Given the description of an element on the screen output the (x, y) to click on. 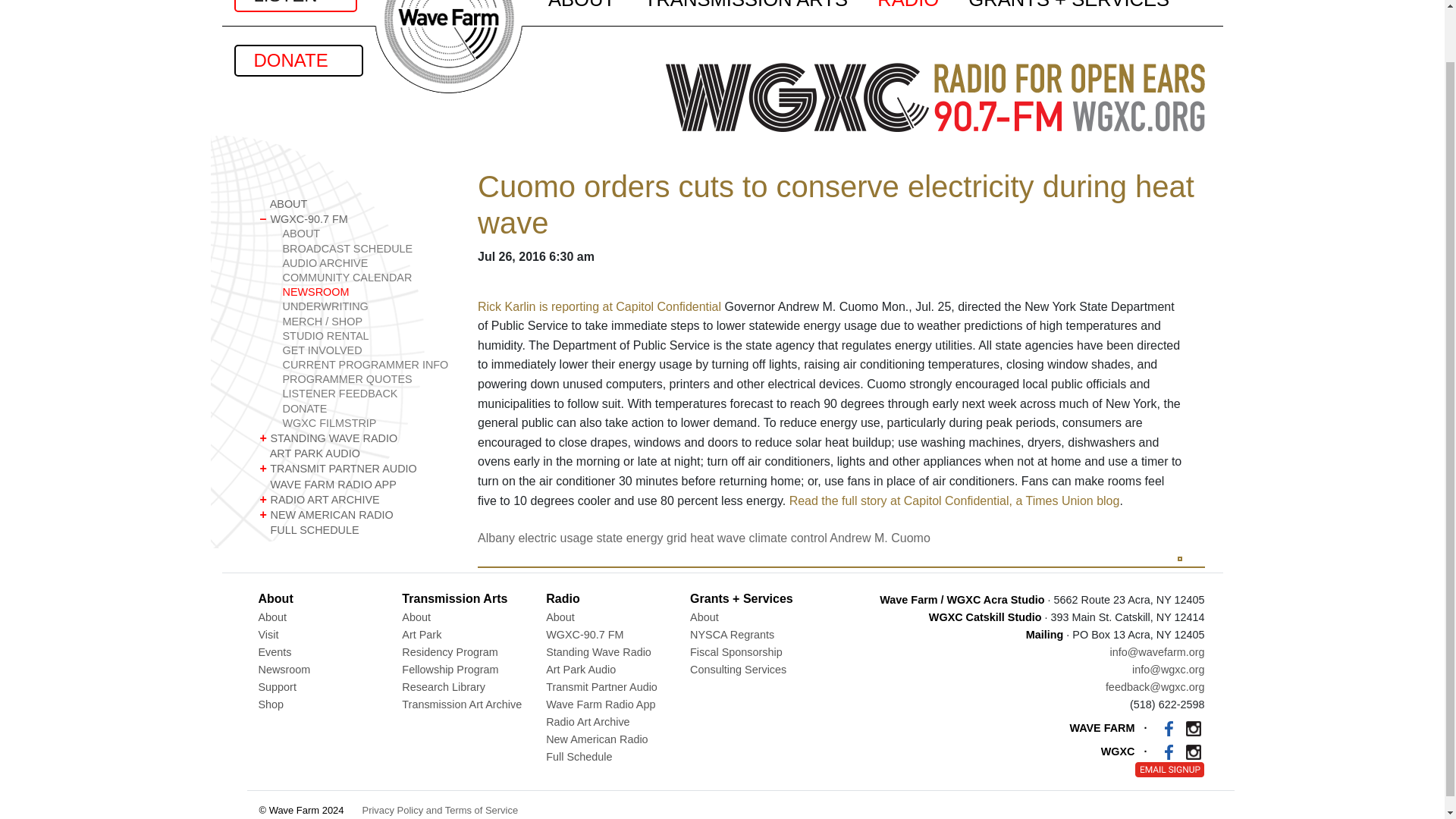
ABOUT (367, 233)
BROADCAST SCHEDULE (367, 248)
DONATE    (297, 60)
  ABOUT (355, 203)
LISTEN     (294, 5)
